Given the description of an element on the screen output the (x, y) to click on. 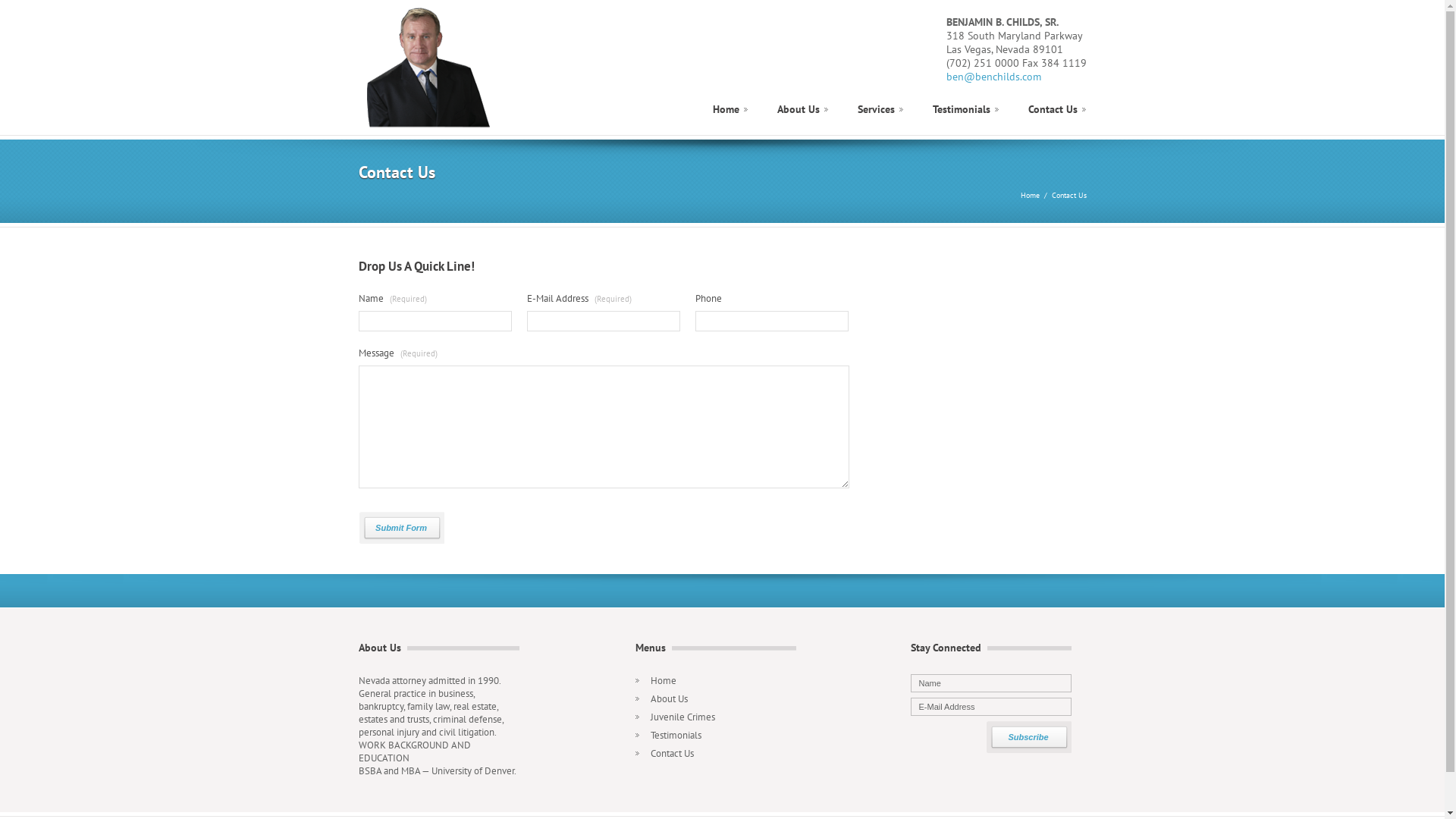
Testimonials Element type: text (675, 734)
Home Element type: text (663, 680)
Contact Us Element type: text (671, 752)
About Us Element type: text (668, 698)
Home Element type: text (1029, 195)
Testimonials Element type: text (961, 113)
Home Element type: text (725, 113)
Services Element type: text (875, 113)
Contact Us Element type: text (1052, 113)
Juvenile Crimes Element type: text (682, 716)
ben@benchilds.com Element type: text (993, 76)
About Us Element type: text (797, 113)
Submit Form Element type: text (400, 527)
Subscribe Element type: text (1028, 737)
